Given the description of an element on the screen output the (x, y) to click on. 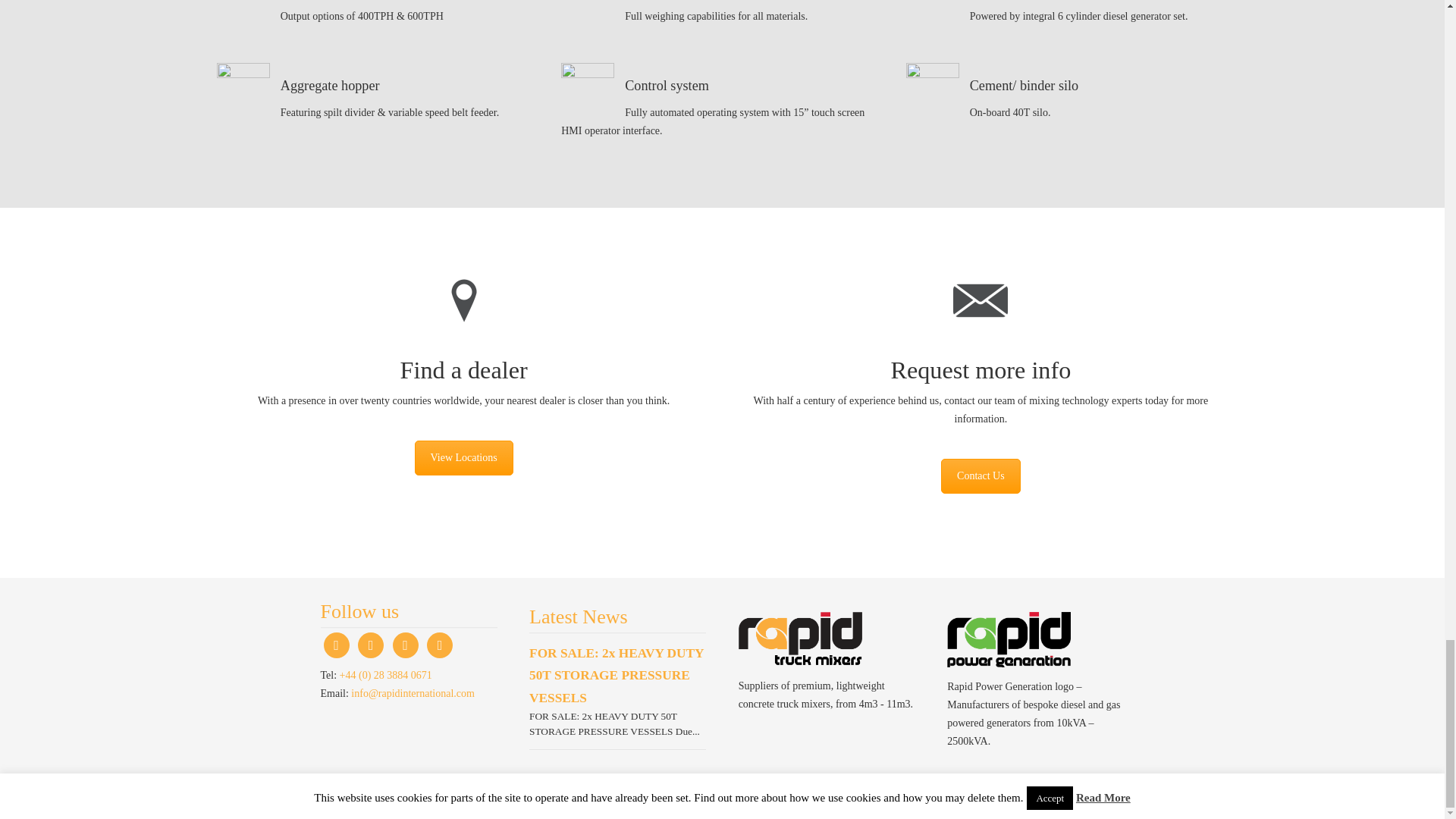
Latest News (578, 617)
Contact Us (980, 475)
linkedin (371, 644)
googleplus-alt (439, 644)
twitter (336, 644)
youtube (406, 644)
View Locations (463, 457)
